Given the description of an element on the screen output the (x, y) to click on. 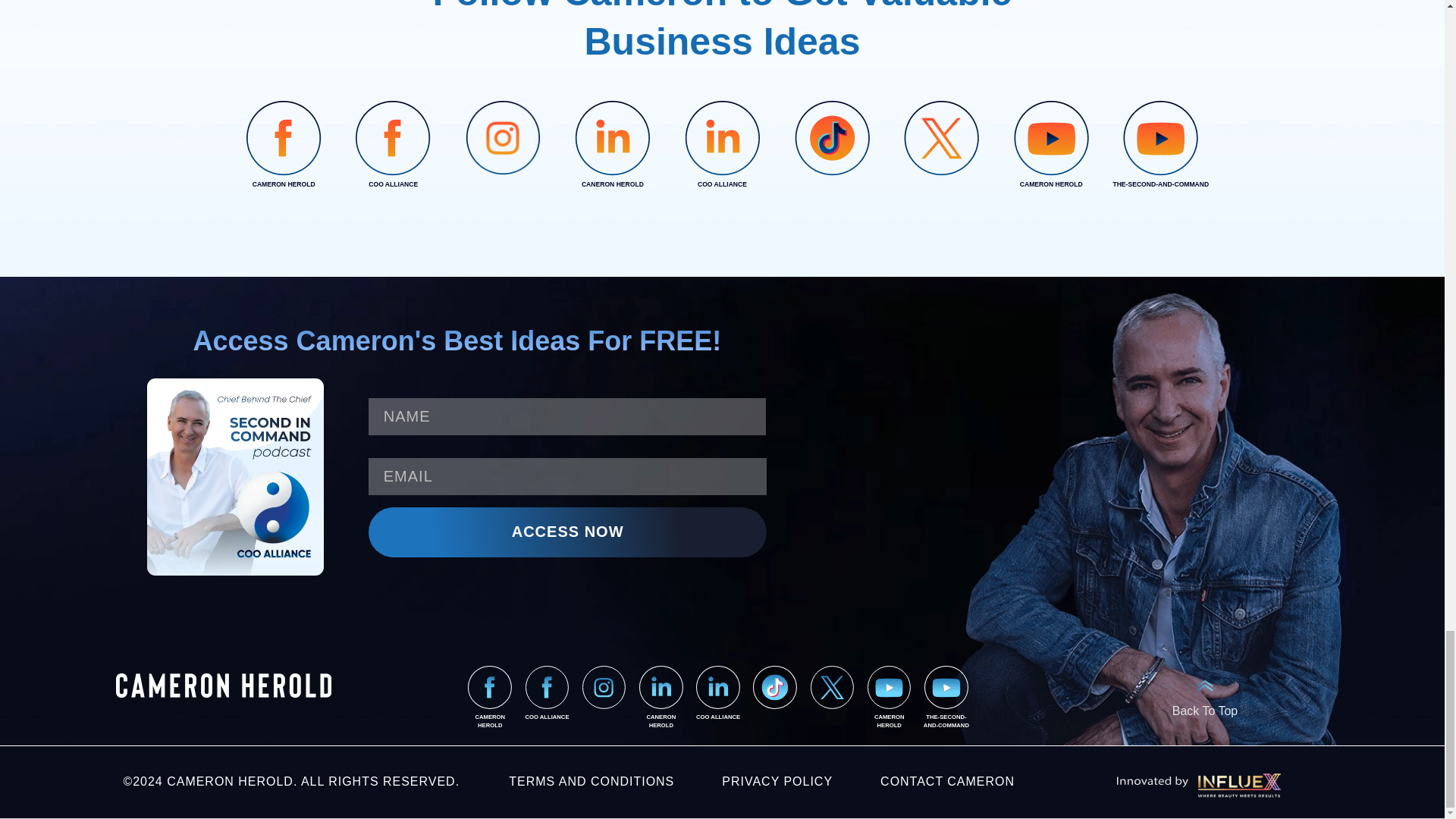
ACCESS NOW (567, 531)
